Given the description of an element on the screen output the (x, y) to click on. 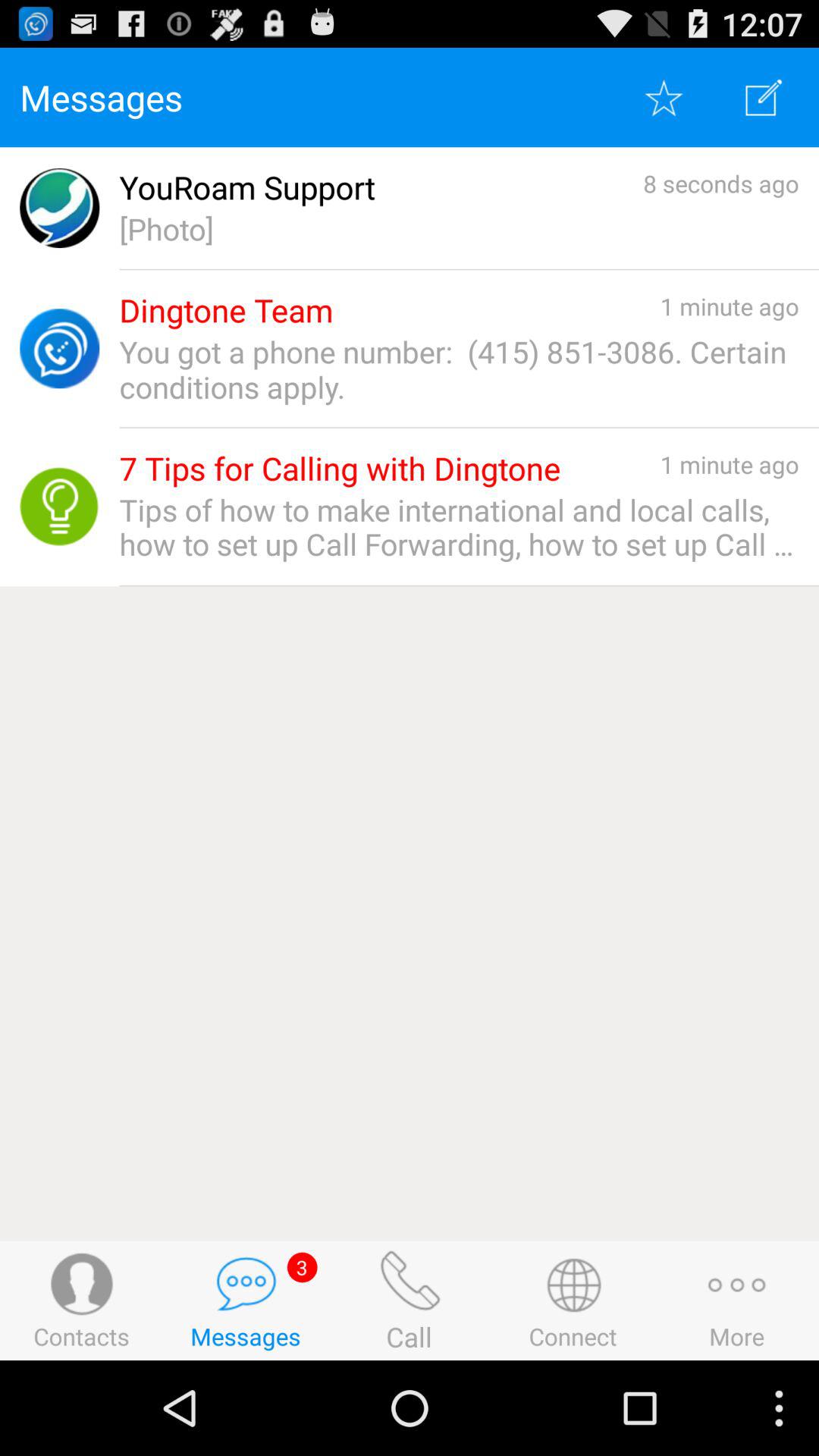
toggle write option (763, 97)
